Given the description of an element on the screen output the (x, y) to click on. 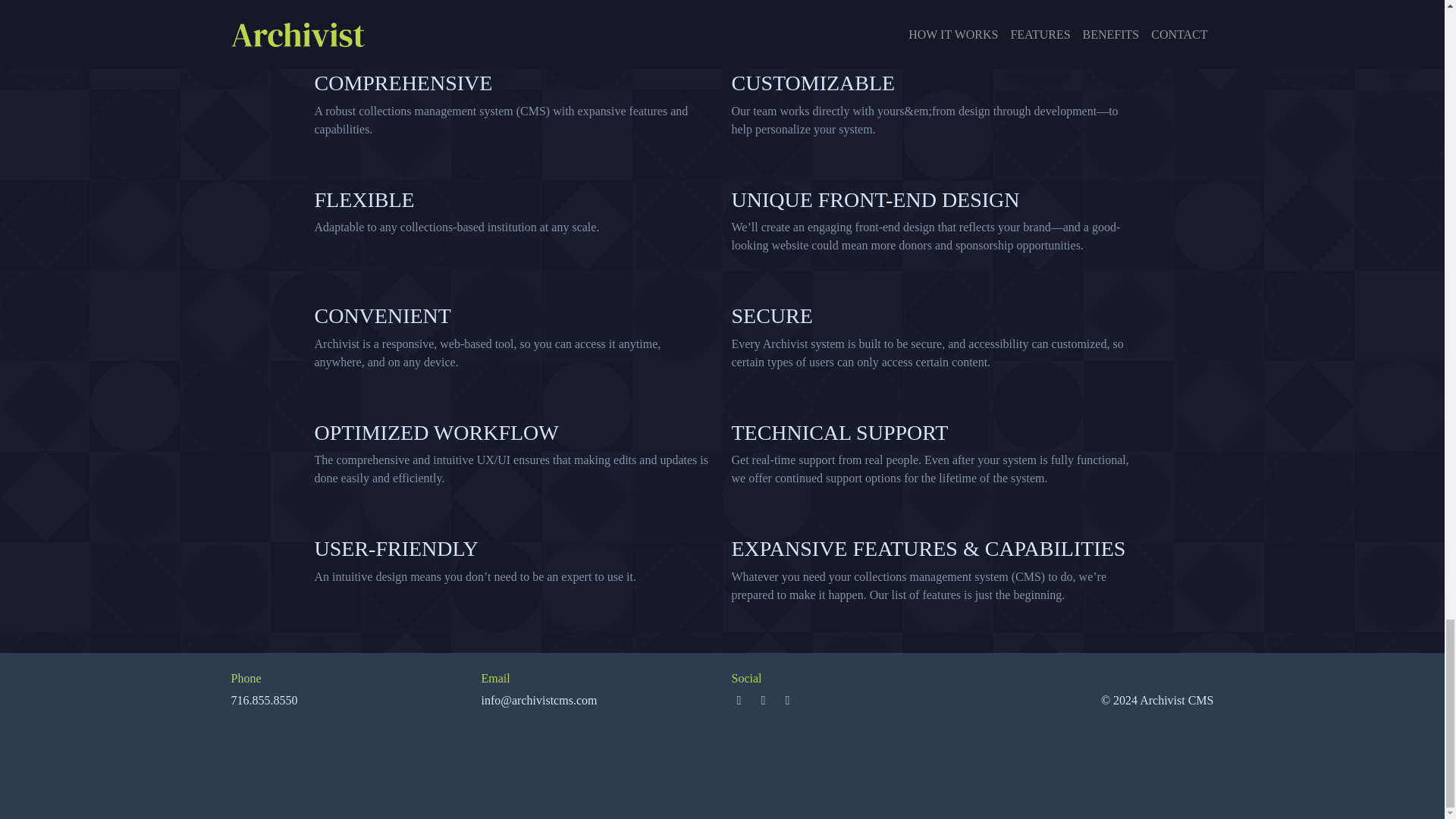
716.855.8550 (263, 699)
